Given the description of an element on the screen output the (x, y) to click on. 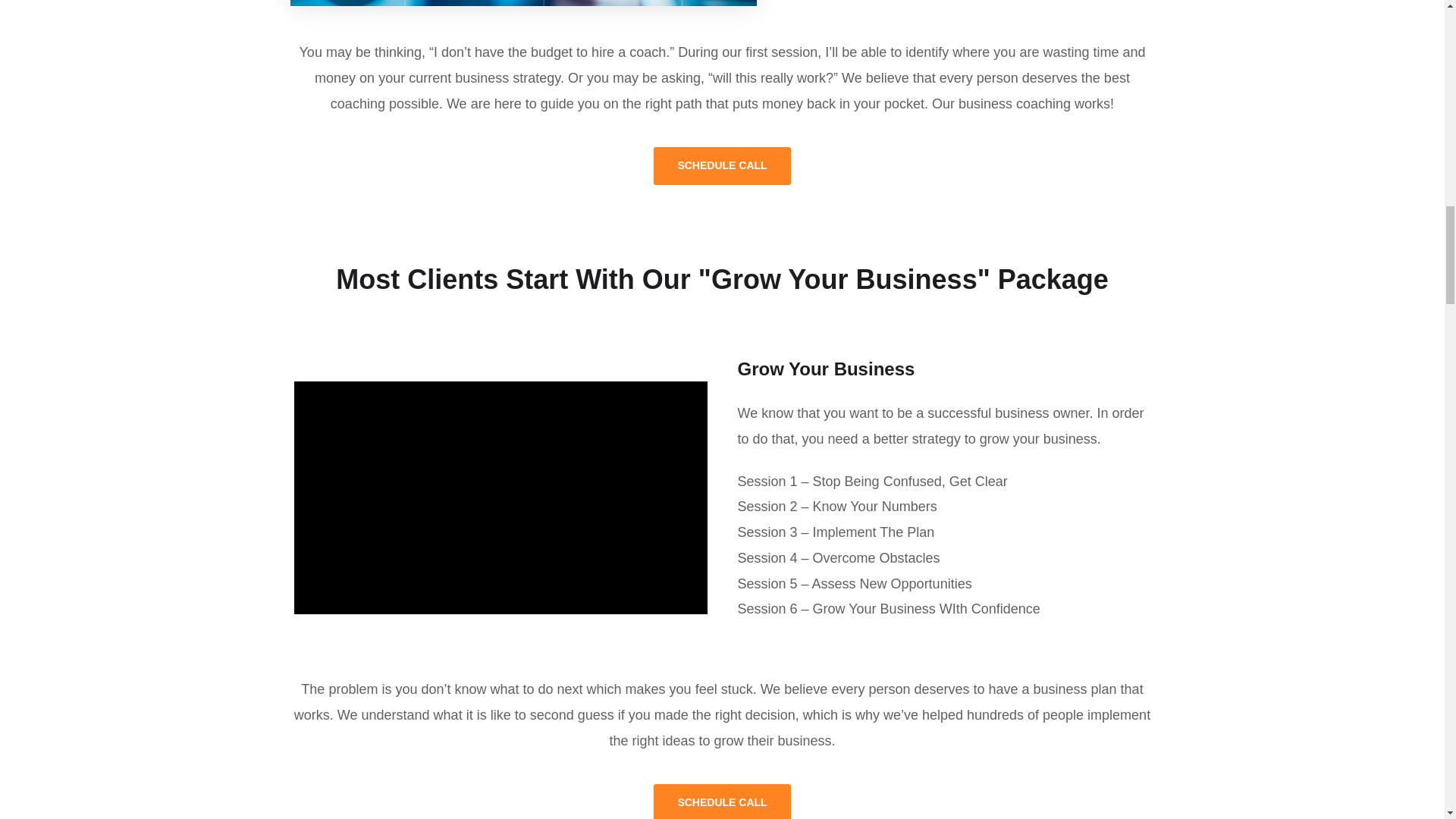
SCHEDULE CALL (721, 166)
SCHEDULE CALL (721, 801)
vimeo Video Player (500, 497)
